Given the description of an element on the screen output the (x, y) to click on. 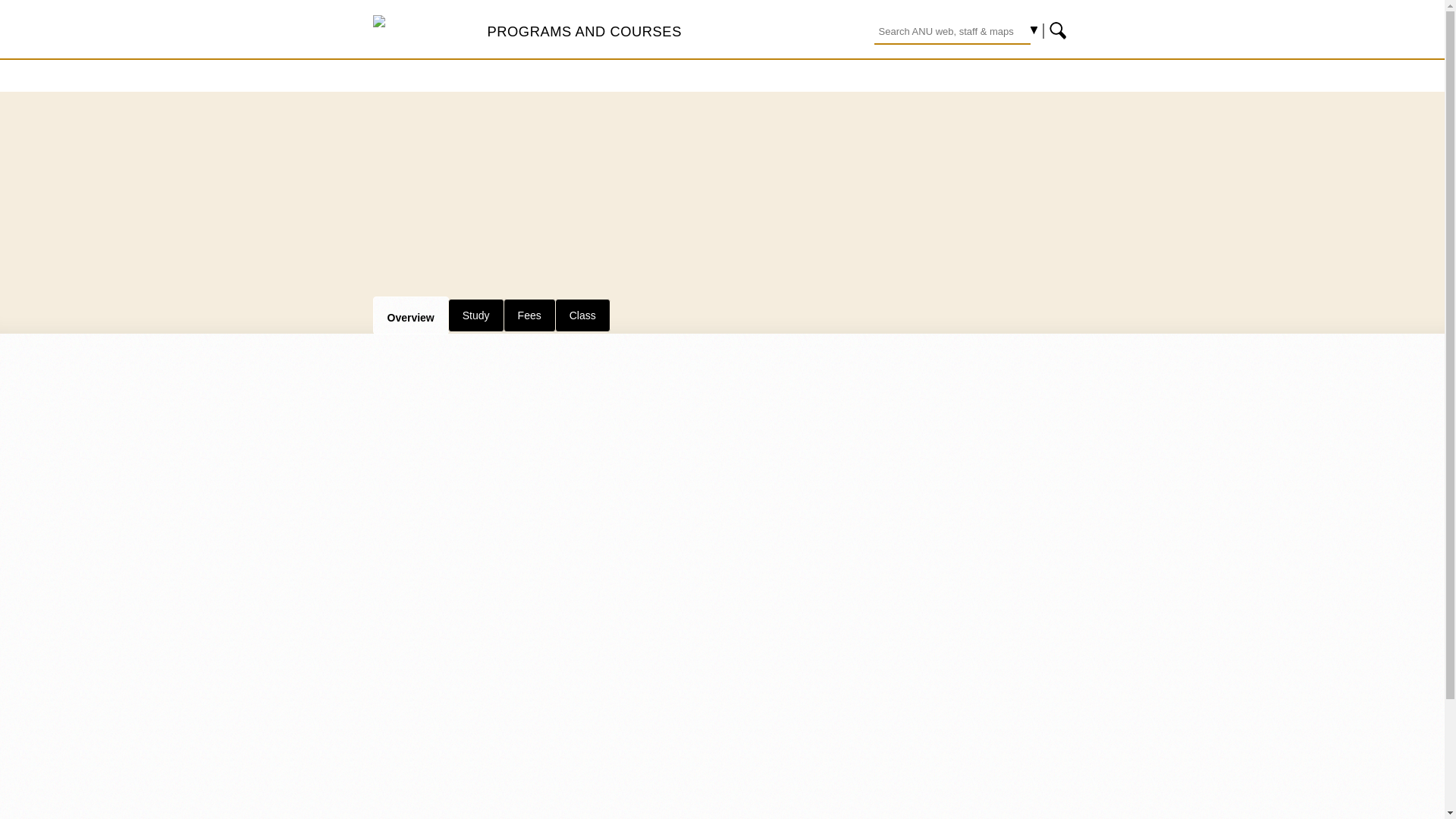
Study (475, 315)
Class (582, 315)
PROGRAMS AND COURSES (583, 31)
Overview (410, 315)
Go (1059, 30)
Fees (529, 315)
